Given the description of an element on the screen output the (x, y) to click on. 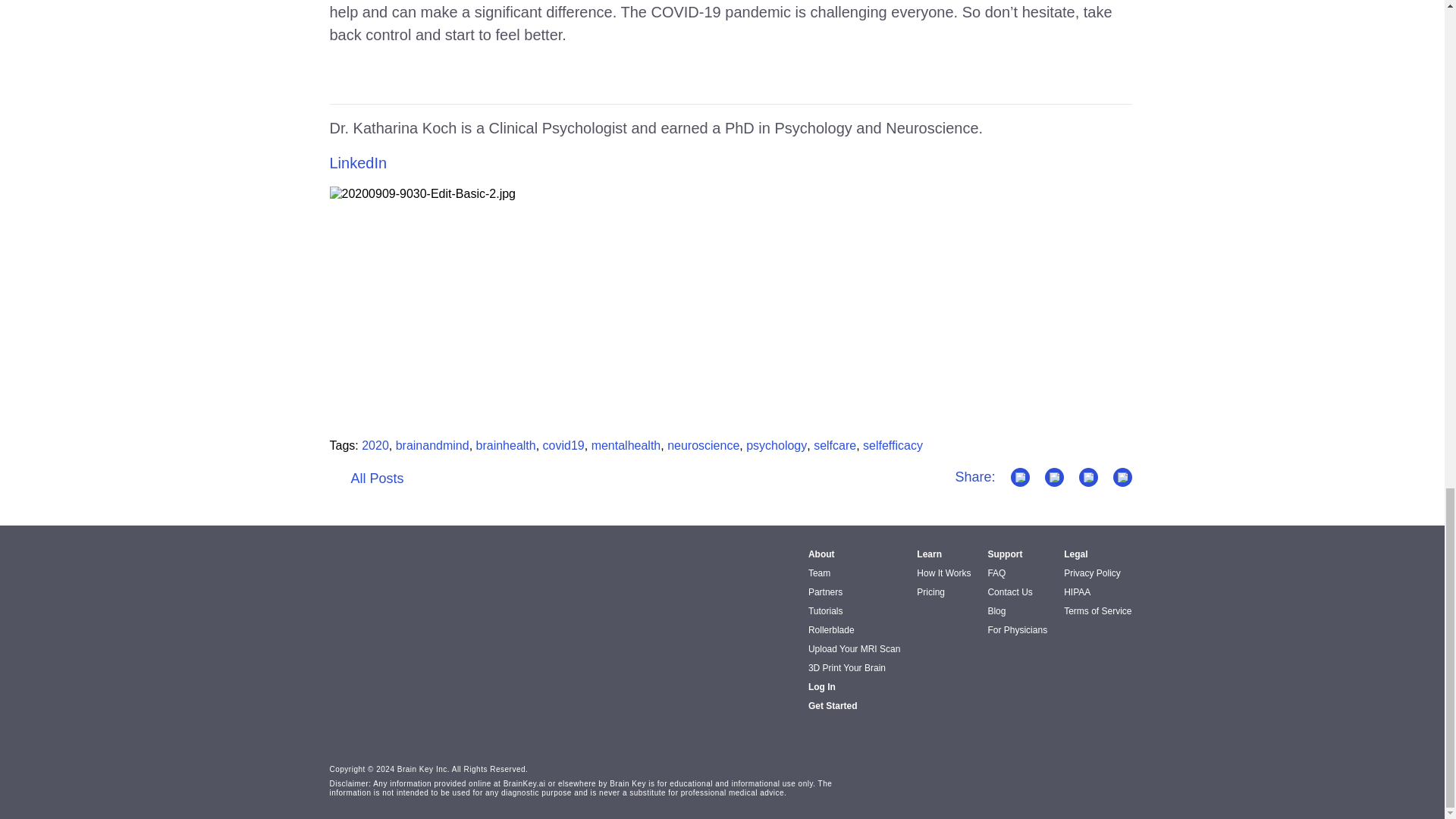
How It Works (944, 573)
3D Print Your Brain (846, 667)
Tutorials (825, 611)
Contact Us (1009, 592)
Partners (825, 592)
Team (818, 573)
For Physicians (1016, 629)
psychology (775, 445)
Log In (821, 686)
brainandmind (432, 445)
selfefficacy (893, 445)
Get Started (832, 706)
brainhealth (505, 445)
Pricing (930, 592)
Rollerblade (831, 629)
